Given the description of an element on the screen output the (x, y) to click on. 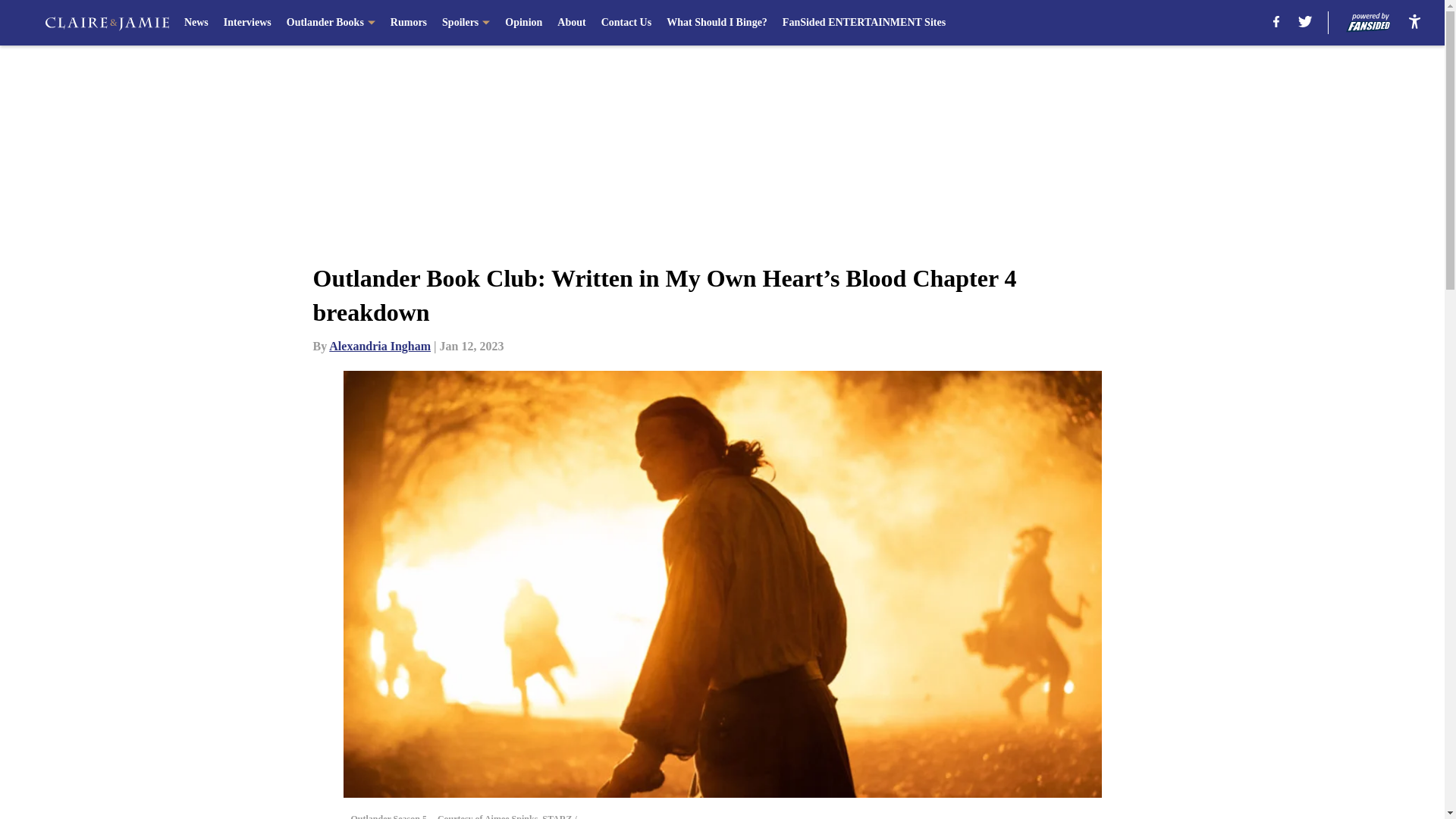
FanSided ENTERTAINMENT Sites (863, 22)
What Should I Binge? (716, 22)
Alexandria Ingham (379, 345)
Rumors (408, 22)
Interviews (247, 22)
Opinion (523, 22)
Contact Us (626, 22)
News (196, 22)
About (571, 22)
